Given the description of an element on the screen output the (x, y) to click on. 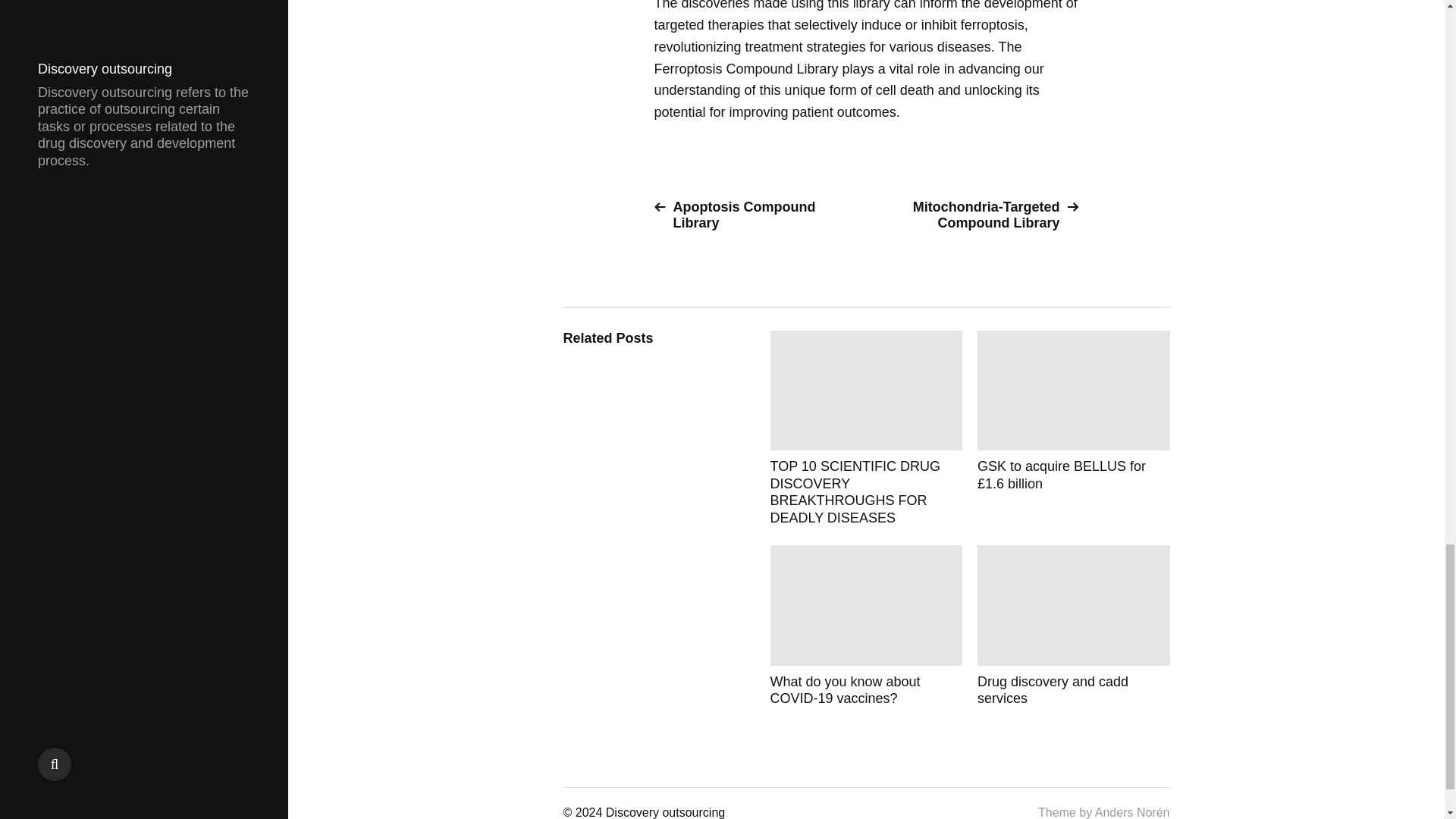
What do you know about COVID-19 vaccines? (866, 625)
Mitochondria-Targeted Compound Library (977, 214)
Apoptosis Compound Library (753, 214)
Drug discovery and cadd services (1073, 625)
